Given the description of an element on the screen output the (x, y) to click on. 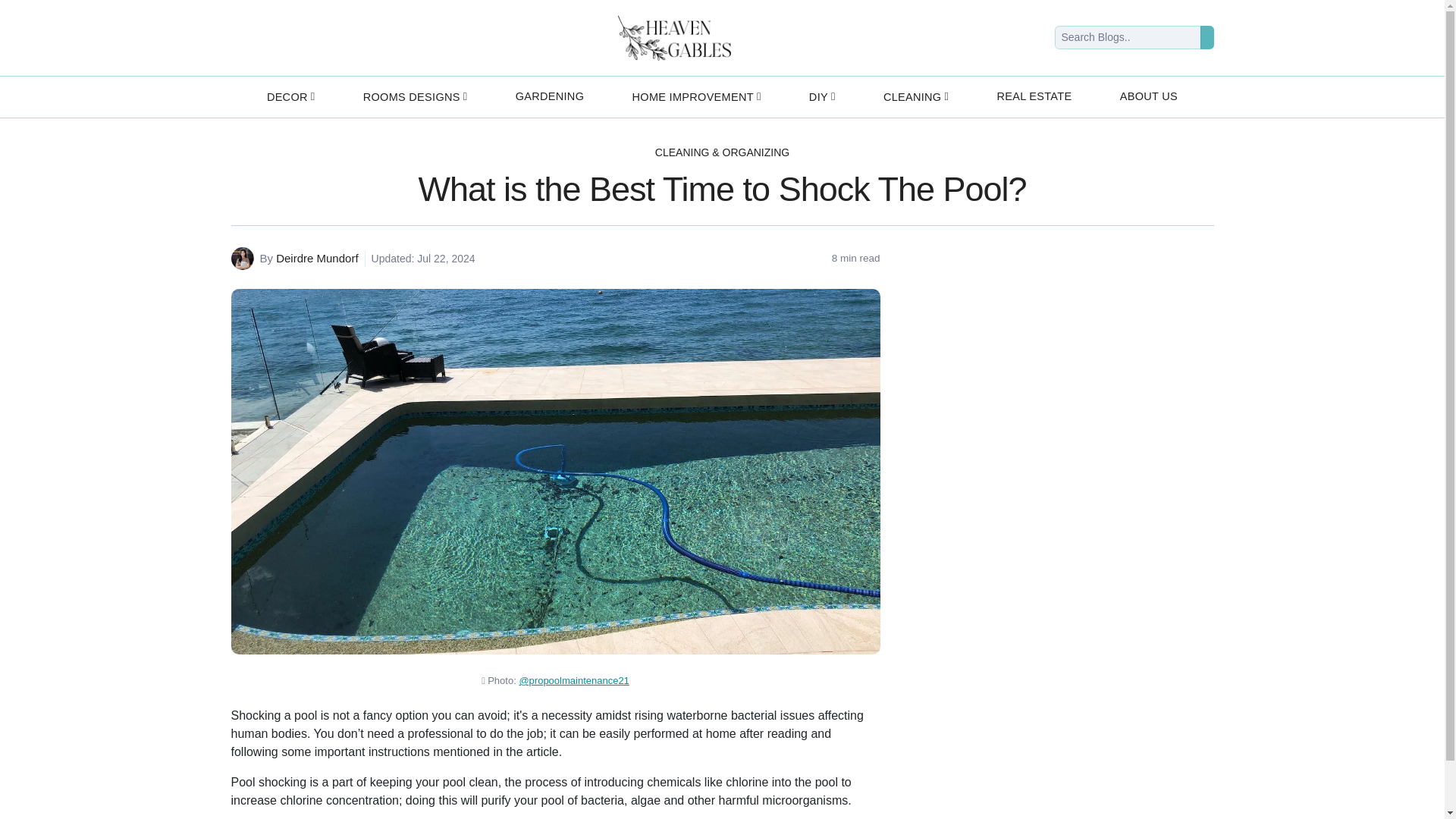
HOME IMPROVEMENT (696, 96)
Last Update Date (420, 258)
DIY (821, 96)
Pro Pool Maintenance  (573, 680)
DECOR (290, 96)
ABOUT US (1148, 96)
REAL ESTATE (1033, 96)
Read Time (855, 258)
Deirdre Mundorf (317, 257)
CLEANING (915, 96)
